Given the description of an element on the screen output the (x, y) to click on. 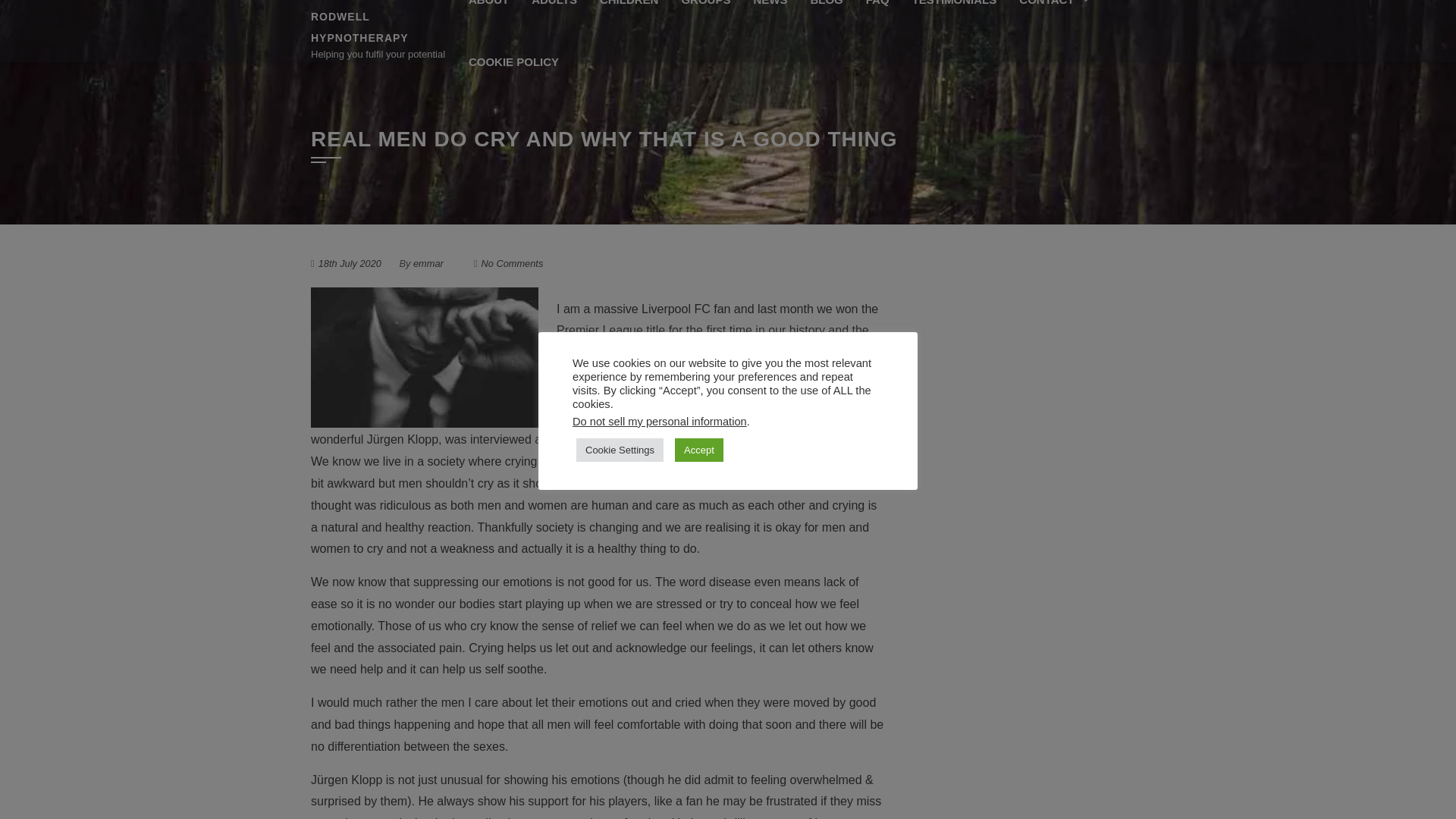
BLOG (825, 15)
ADULTS (553, 15)
COOKIE POLICY (513, 62)
ABOUT (488, 15)
CHILDREN (628, 15)
Do not sell my personal information (659, 421)
TESTIMONIALS (955, 15)
NEWS (769, 15)
emmar (428, 263)
CONTACT (1051, 15)
